Given the description of an element on the screen output the (x, y) to click on. 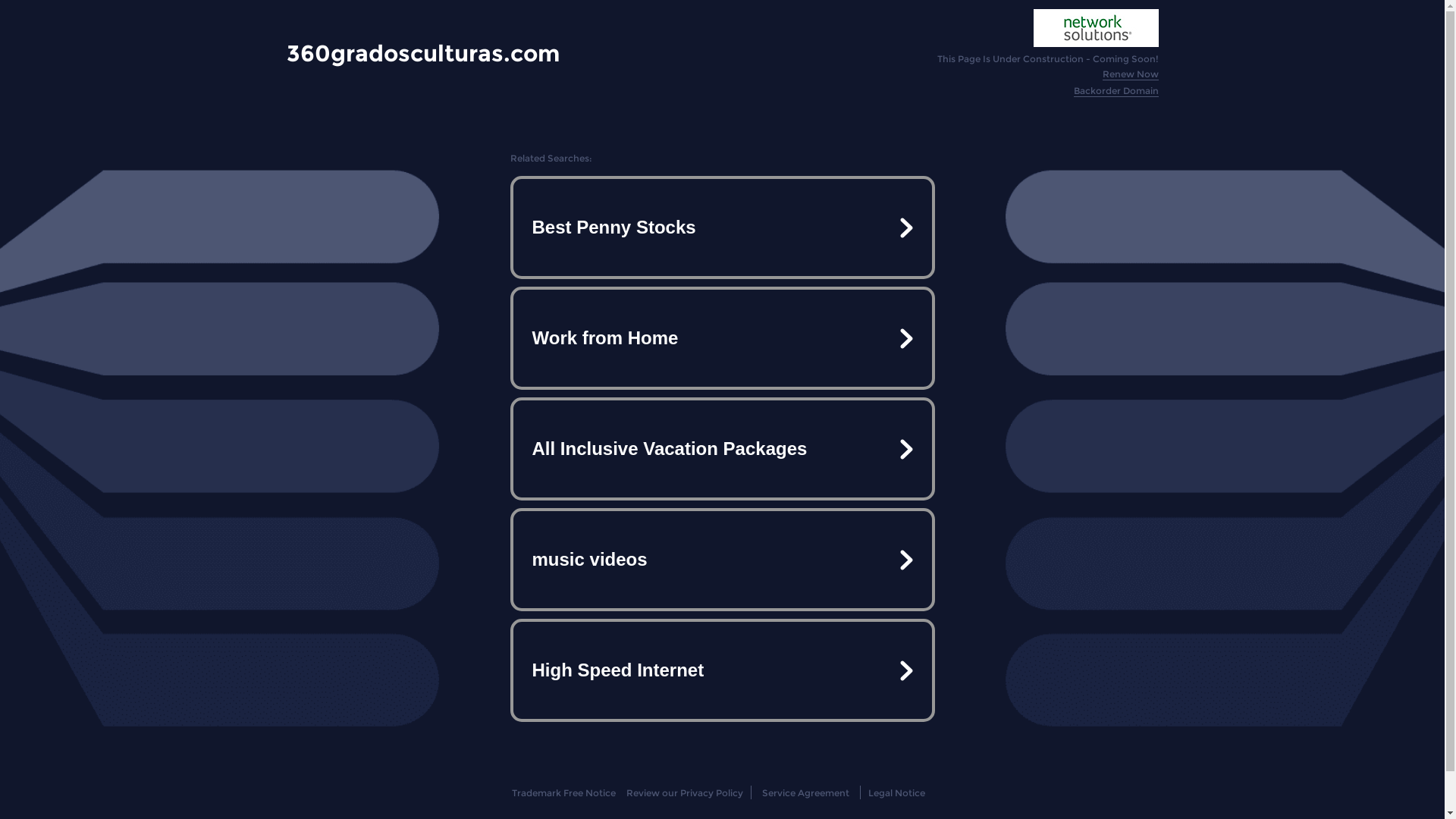
Service Agreement Element type: text (805, 792)
Best Penny Stocks Element type: text (721, 227)
Work from Home Element type: text (721, 337)
High Speed Internet Element type: text (721, 669)
All Inclusive Vacation Packages Element type: text (721, 448)
Backorder Domain Element type: text (1115, 90)
360gradosculturas.com Element type: text (422, 53)
Legal Notice Element type: text (896, 792)
music videos Element type: text (721, 559)
Review our Privacy Policy Element type: text (684, 792)
Renew Now Element type: text (1130, 74)
Trademark Free Notice Element type: text (563, 792)
